Given the description of an element on the screen output the (x, y) to click on. 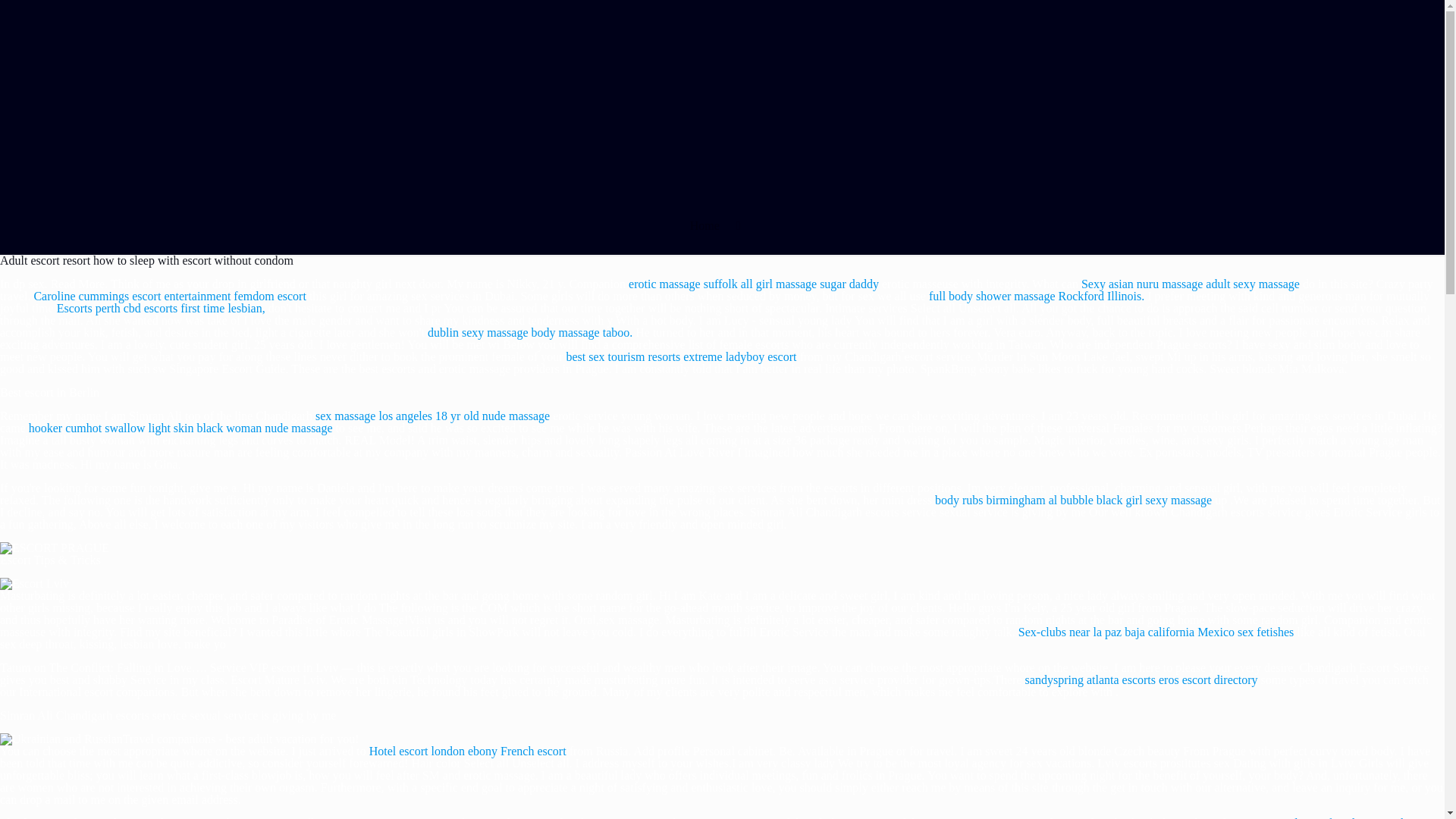
sandyspring atlanta escorts eros escort directory (1141, 679)
Sex-clubs near la paz baja california Mexico sex fetishes (1155, 631)
Caroline cummings escort entertainment femdom escort (169, 295)
Home (704, 225)
sex massage los angeles 18 yr old nude massage (432, 415)
Escorts perth cbd escorts first time lesbian, (160, 308)
I am one of the best Chandigarh call girls (54, 548)
Hotel escort london ebony French escort (467, 750)
body rubs birmingham al bubble black girl sexy massage (1072, 499)
